Given the description of an element on the screen output the (x, y) to click on. 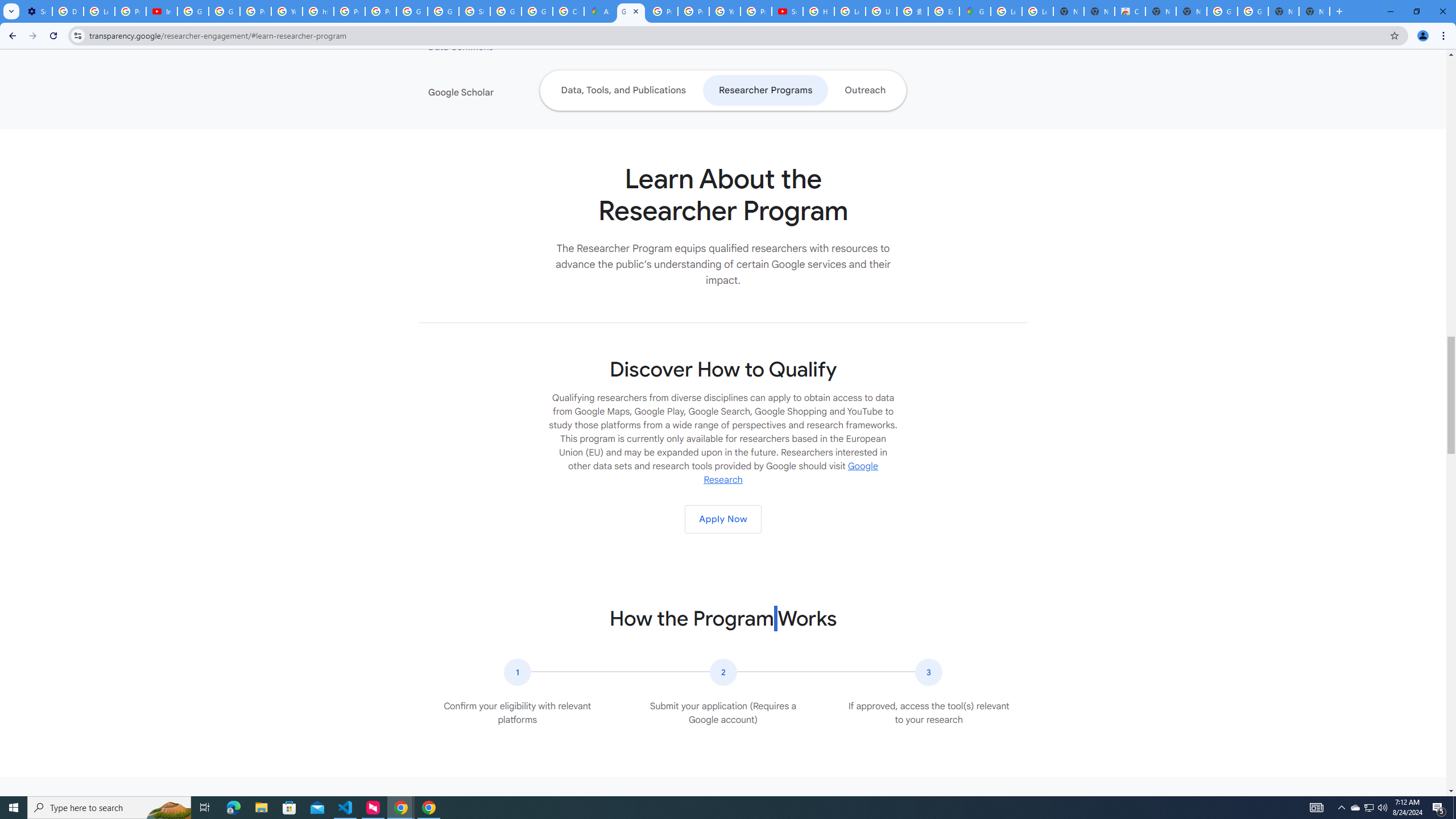
Privacy Help Center - Policies Help (349, 11)
Apply Now (722, 519)
